Given the description of an element on the screen output the (x, y) to click on. 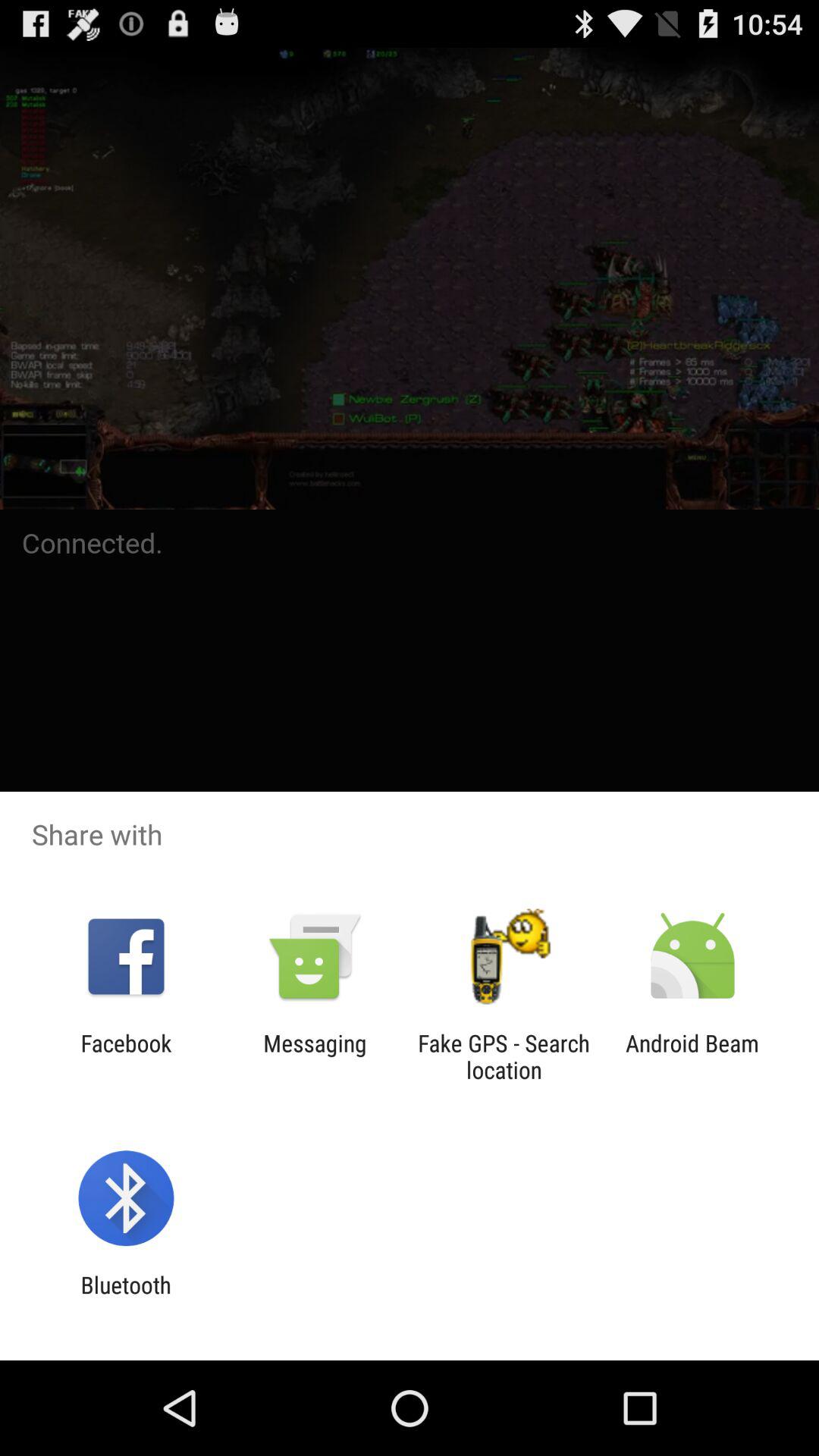
launch item to the left of android beam app (503, 1056)
